Given the description of an element on the screen output the (x, y) to click on. 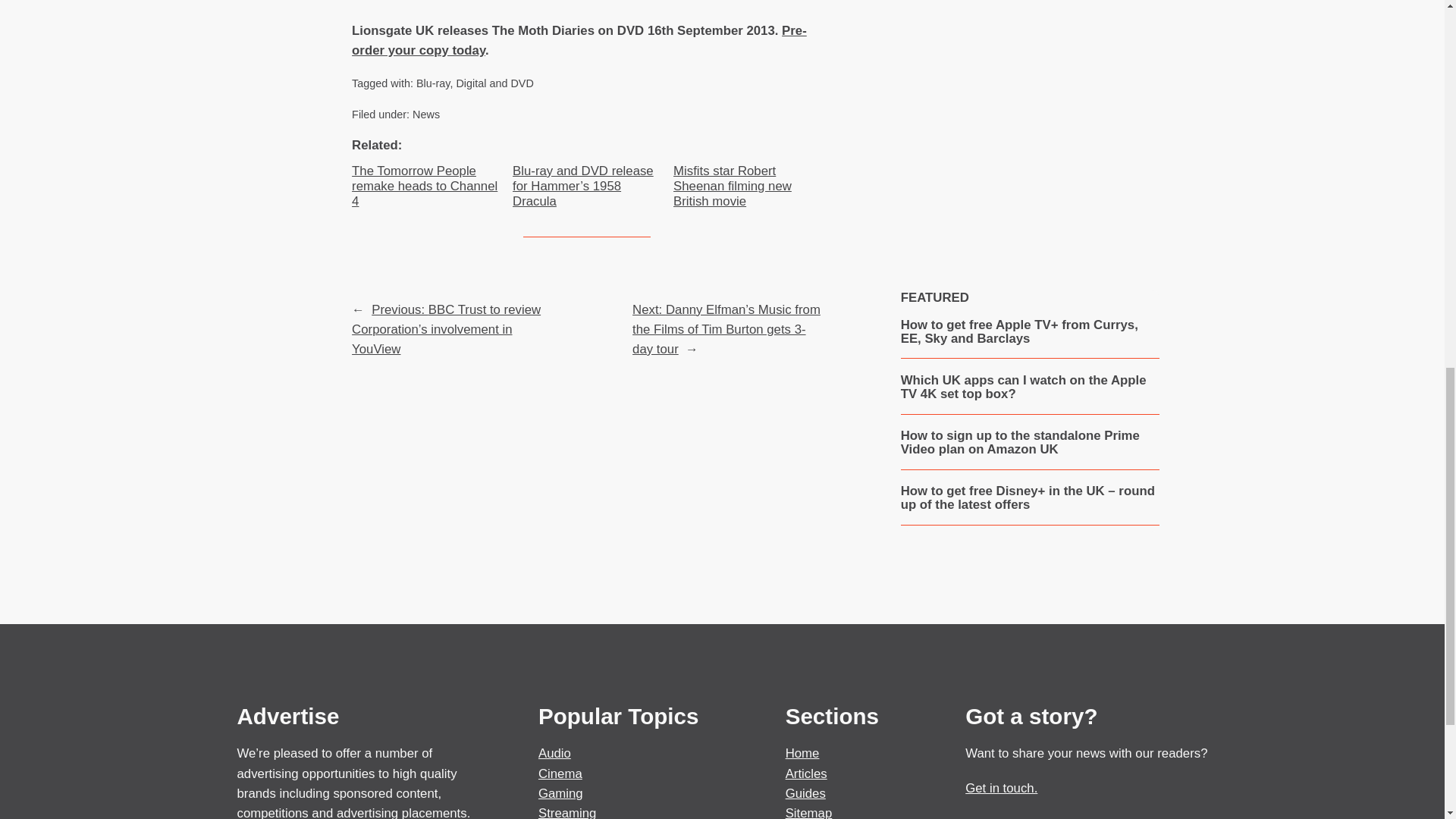
The Tomorrow People remake heads to Channel 4 (426, 186)
Get in touch. (1000, 788)
Blu-ray, Digital and DVD (475, 82)
Misfits star Robert Sheenan filming new British movie (747, 186)
Pre-order your copy today (579, 40)
Gaming (560, 793)
Sitemap (809, 812)
News (425, 114)
Guides (805, 793)
